Given the description of an element on the screen output the (x, y) to click on. 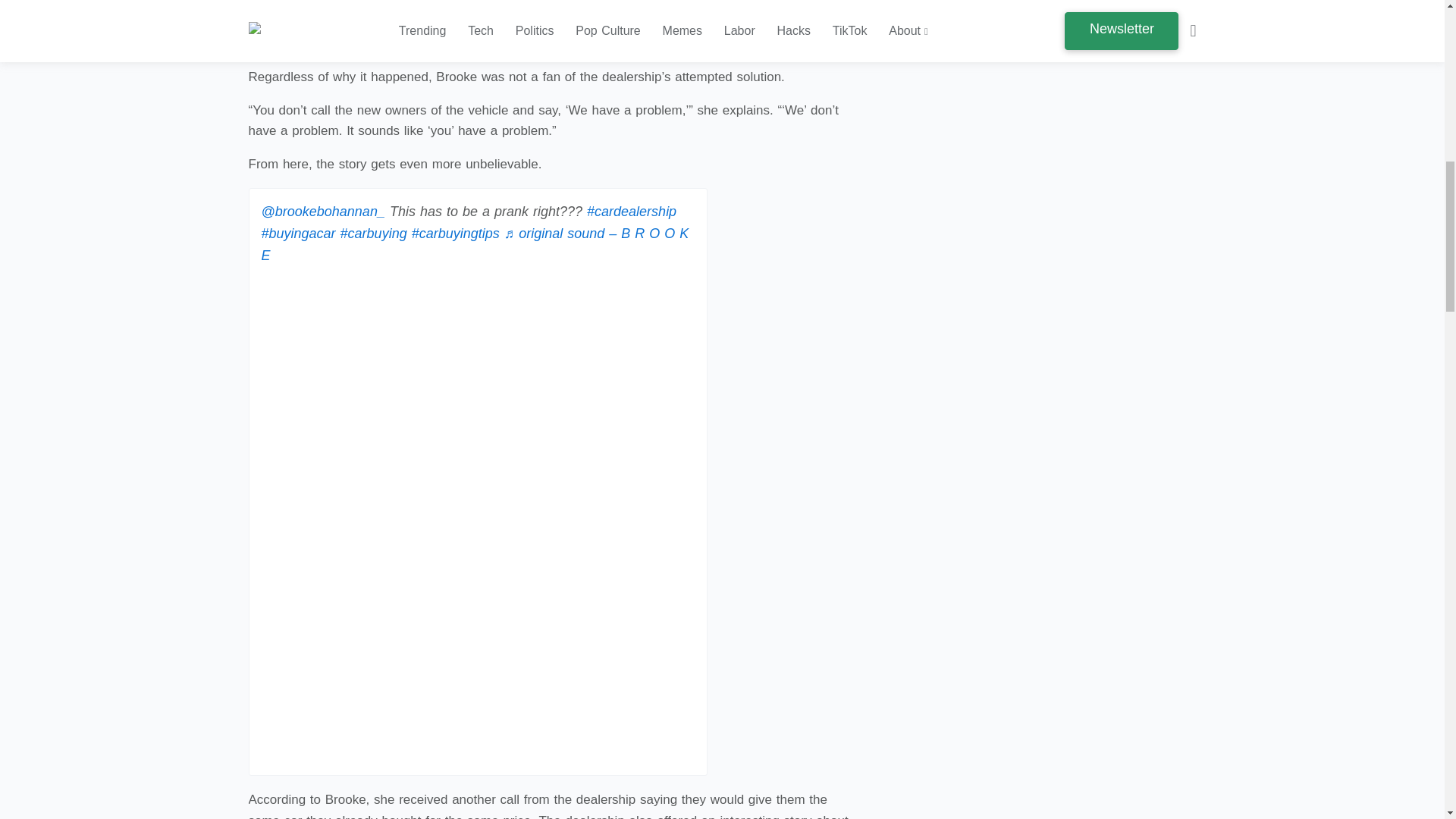
carbuying (373, 233)
carbuyingtips (455, 233)
cardealership (631, 211)
buyingacar (297, 233)
